Given the description of an element on the screen output the (x, y) to click on. 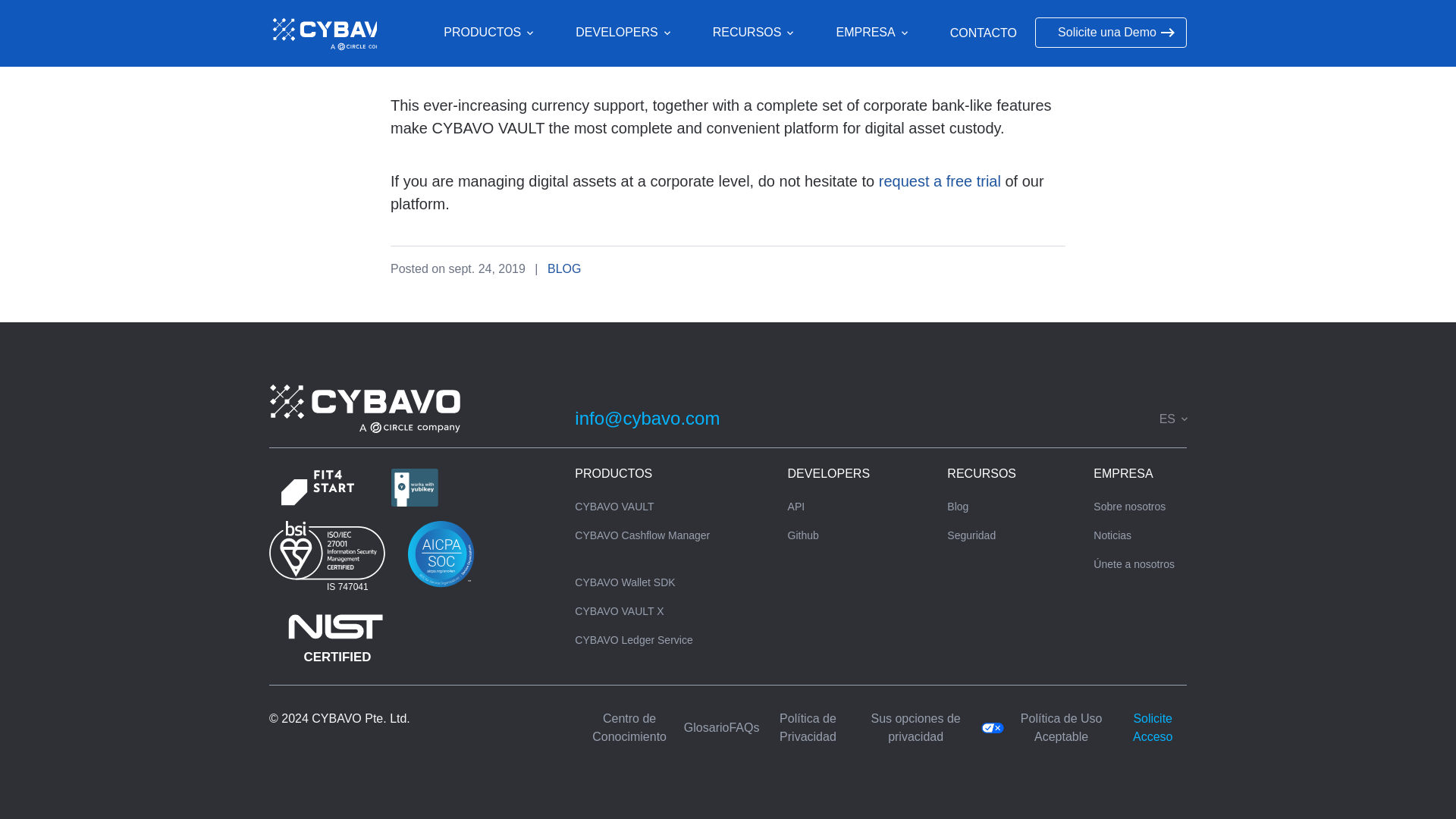
request a free trial (940, 180)
Medium (1022, 418)
Twitter (1077, 418)
Facebook (1050, 418)
ES (1171, 419)
BLOG (563, 268)
LinkedIn (1104, 418)
Binance USD (716, 40)
